Given the description of an element on the screen output the (x, y) to click on. 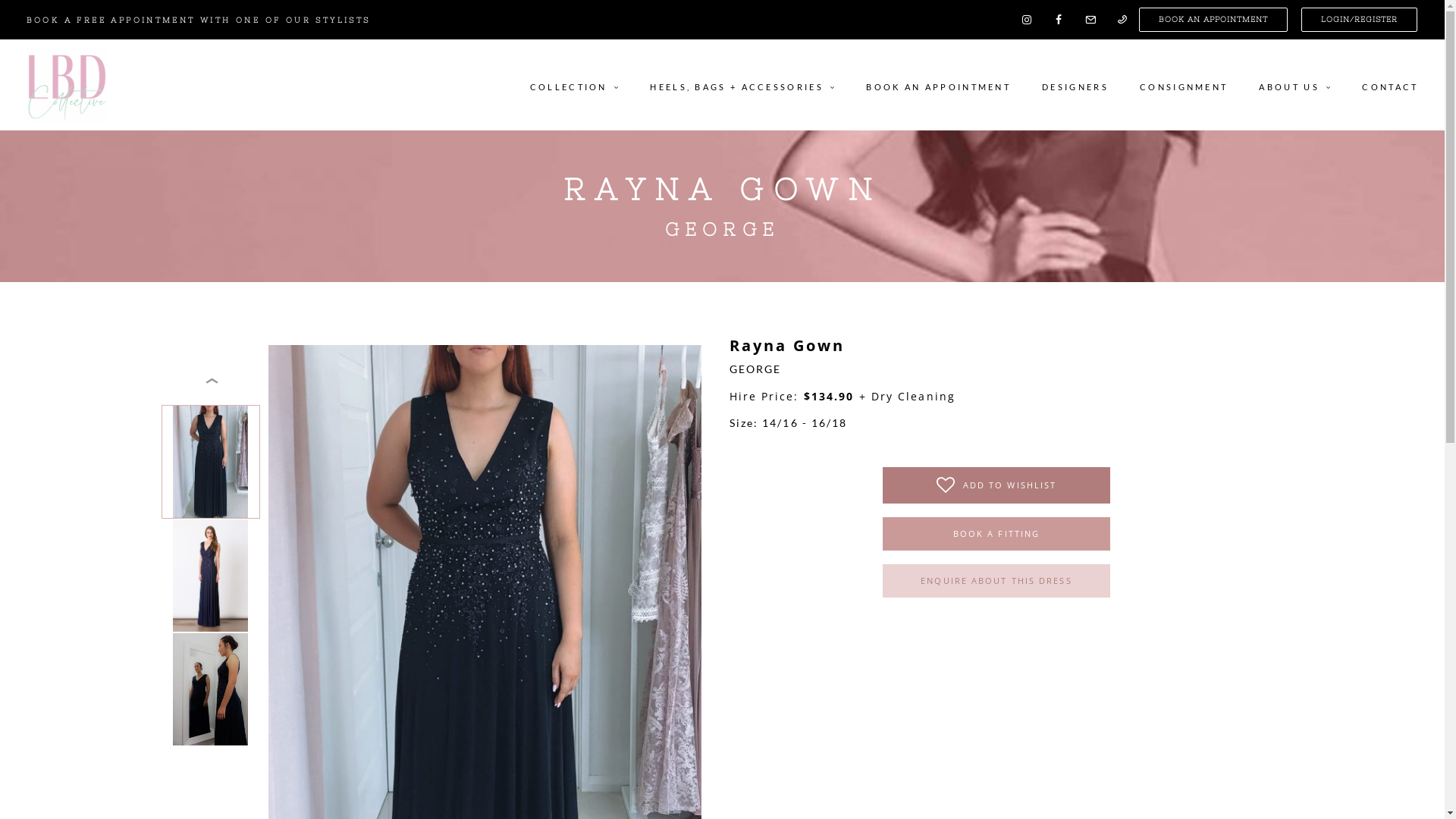
BOOK AN APPOINTMENT Element type: text (1213, 19)
LOGIN/REGISTER Element type: text (1359, 19)
DESIGNERS Element type: text (1075, 84)
COLLECTION Element type: text (581, 84)
ABOUT US Element type: text (1294, 84)
HEELS, BAGS + ACCESSORIES Element type: text (742, 84)
raynaUPDATE1 Element type: hover (209, 461)
CONSIGNMENT Element type: text (1183, 84)
GEORGE_Rayna_size16_ Element type: hover (209, 575)
GEORGE_Rayna_size16_2 Element type: hover (209, 689)
BOOK AN APPOINTMENT Element type: text (938, 84)
CONTACT Element type: text (1383, 84)
ENQUIRE ABOUT THIS DRESS Element type: text (996, 580)
BOOK A FITTING Element type: text (996, 533)
